Given the description of an element on the screen output the (x, y) to click on. 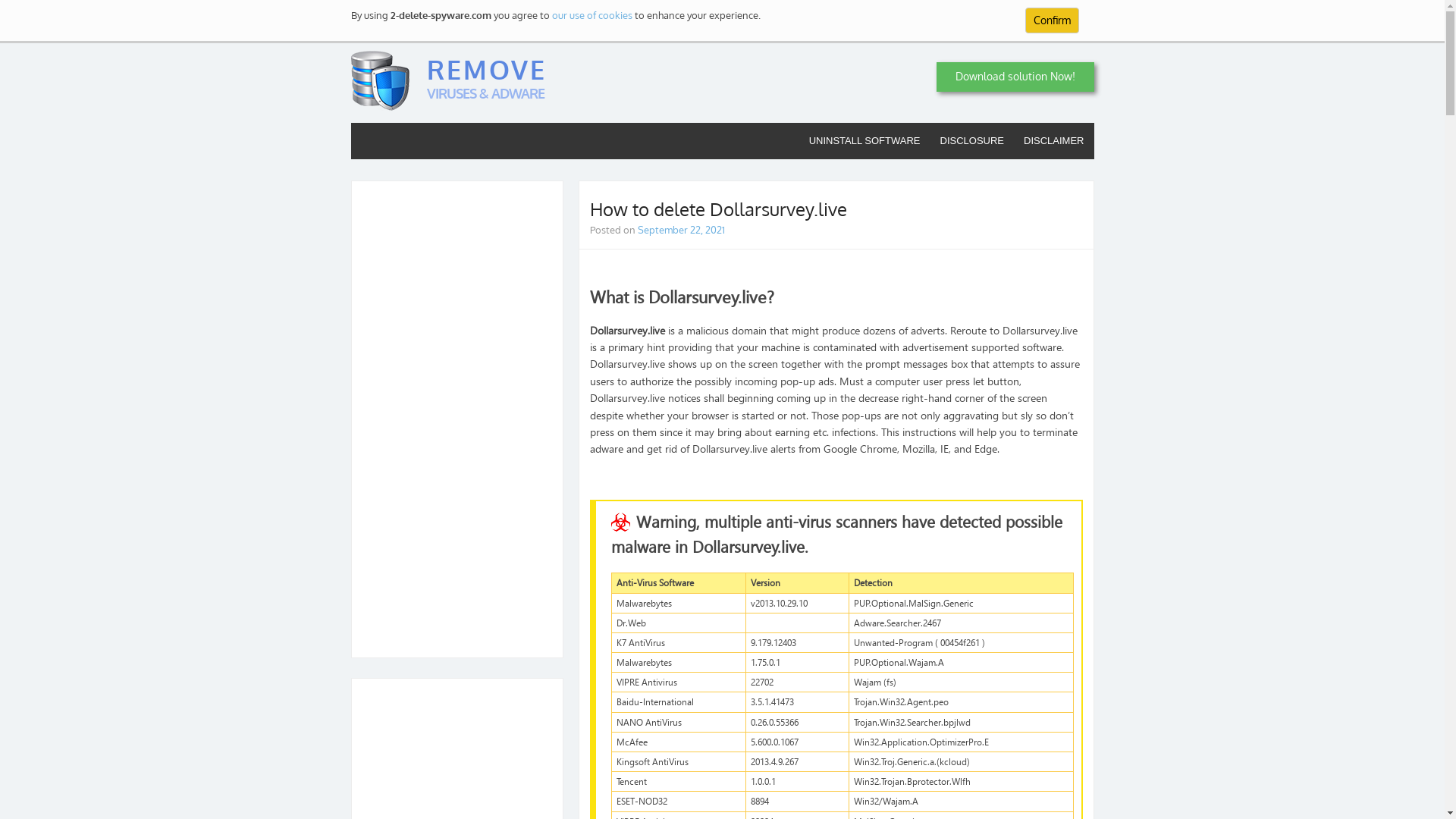
Advertisement Element type: hover (457, 418)
REMOVE
VIRUSES & ADWARE Element type: text (448, 82)
DISCLAIMER Element type: text (1053, 140)
Download solution Now! Element type: text (1014, 76)
September 22, 2021 Element type: text (680, 229)
our use of cookies Element type: text (592, 15)
DISCLOSURE Element type: text (971, 140)
Confirm Element type: text (1052, 20)
UNINSTALL SOFTWARE Element type: text (864, 140)
